Given the description of an element on the screen output the (x, y) to click on. 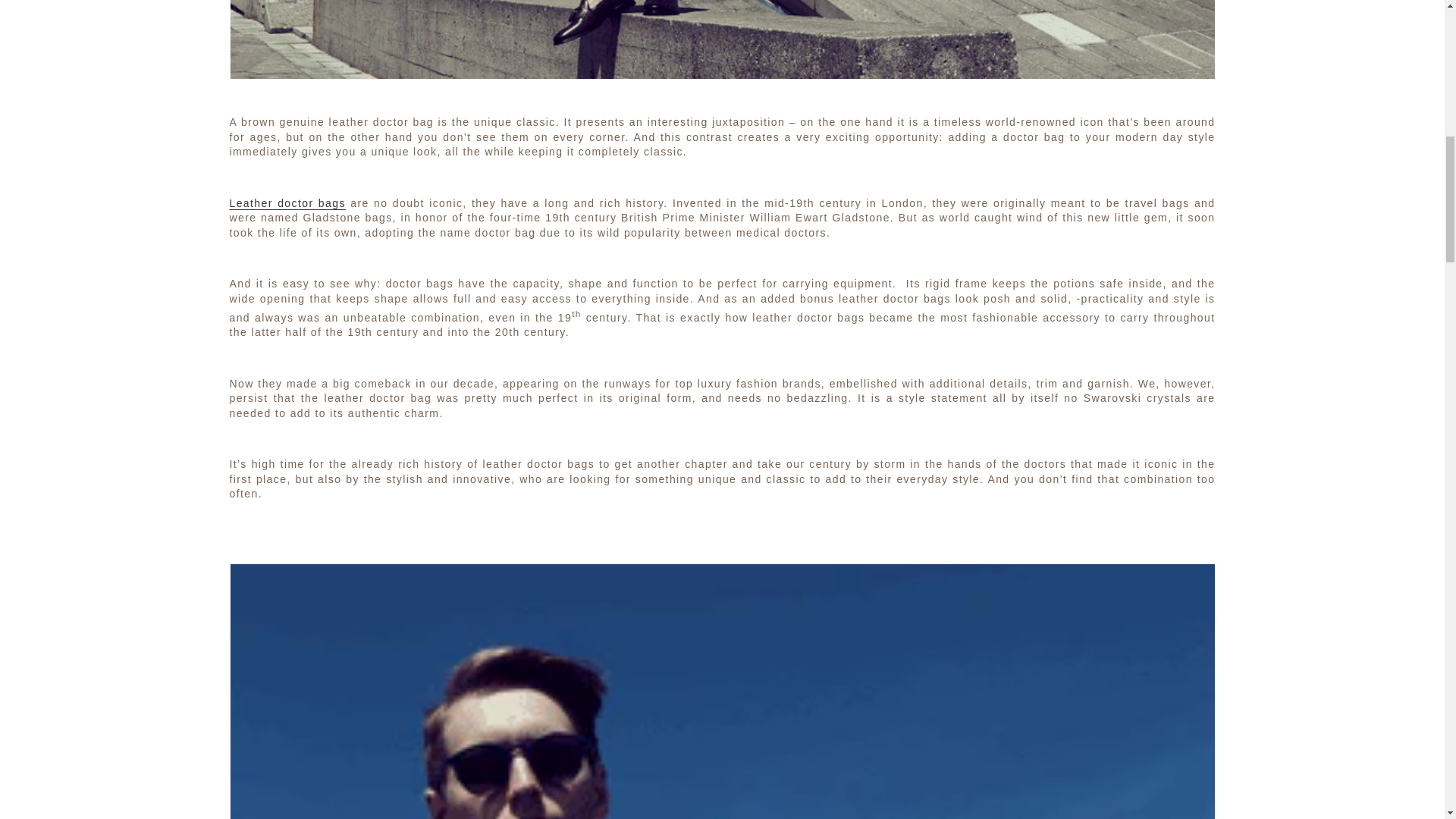
Leather doctor bags (286, 203)
